Given the description of an element on the screen output the (x, y) to click on. 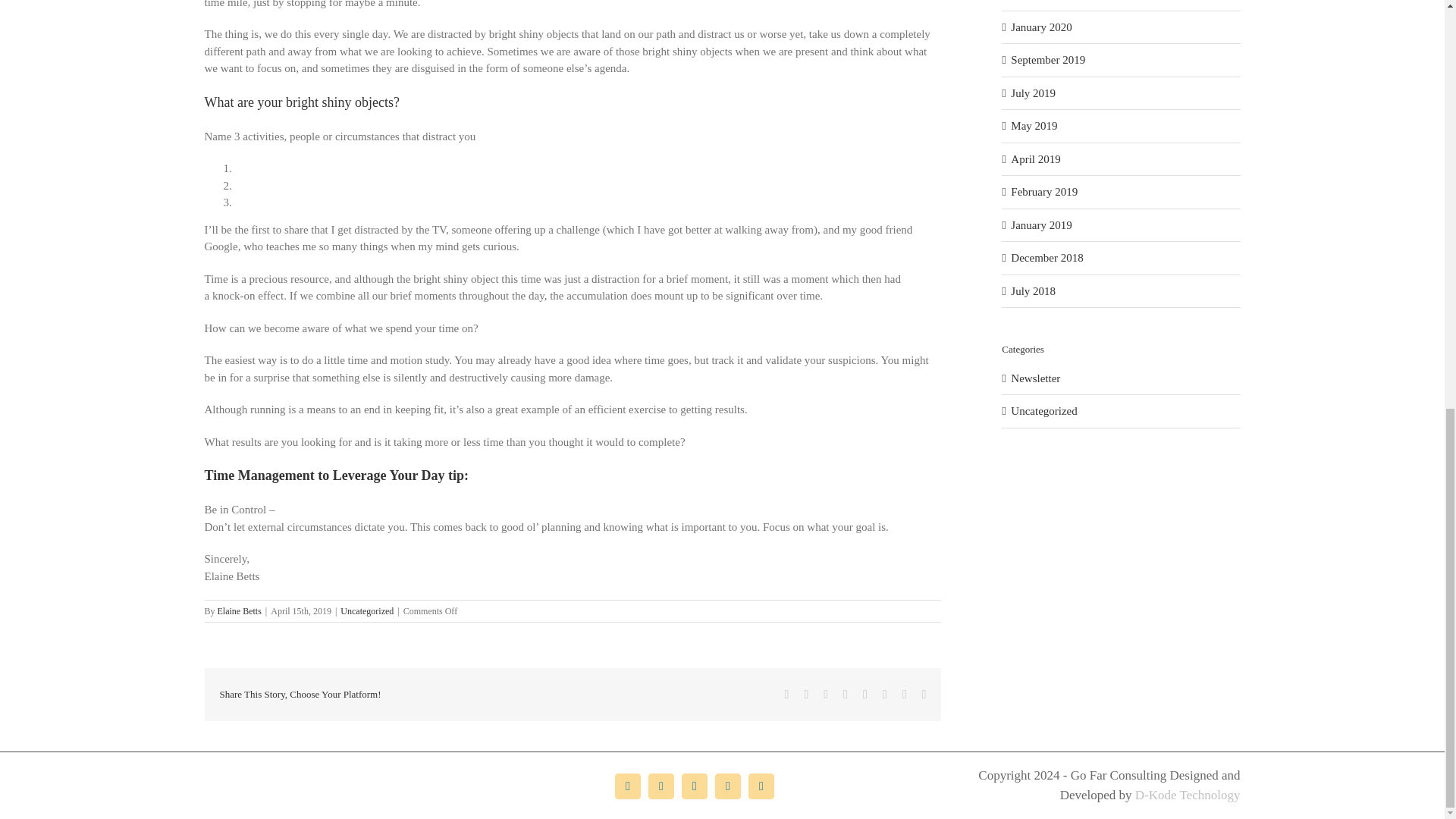
Elaine Betts (239, 611)
Uncategorized (366, 611)
Posts by Elaine Betts (239, 611)
